Given the description of an element on the screen output the (x, y) to click on. 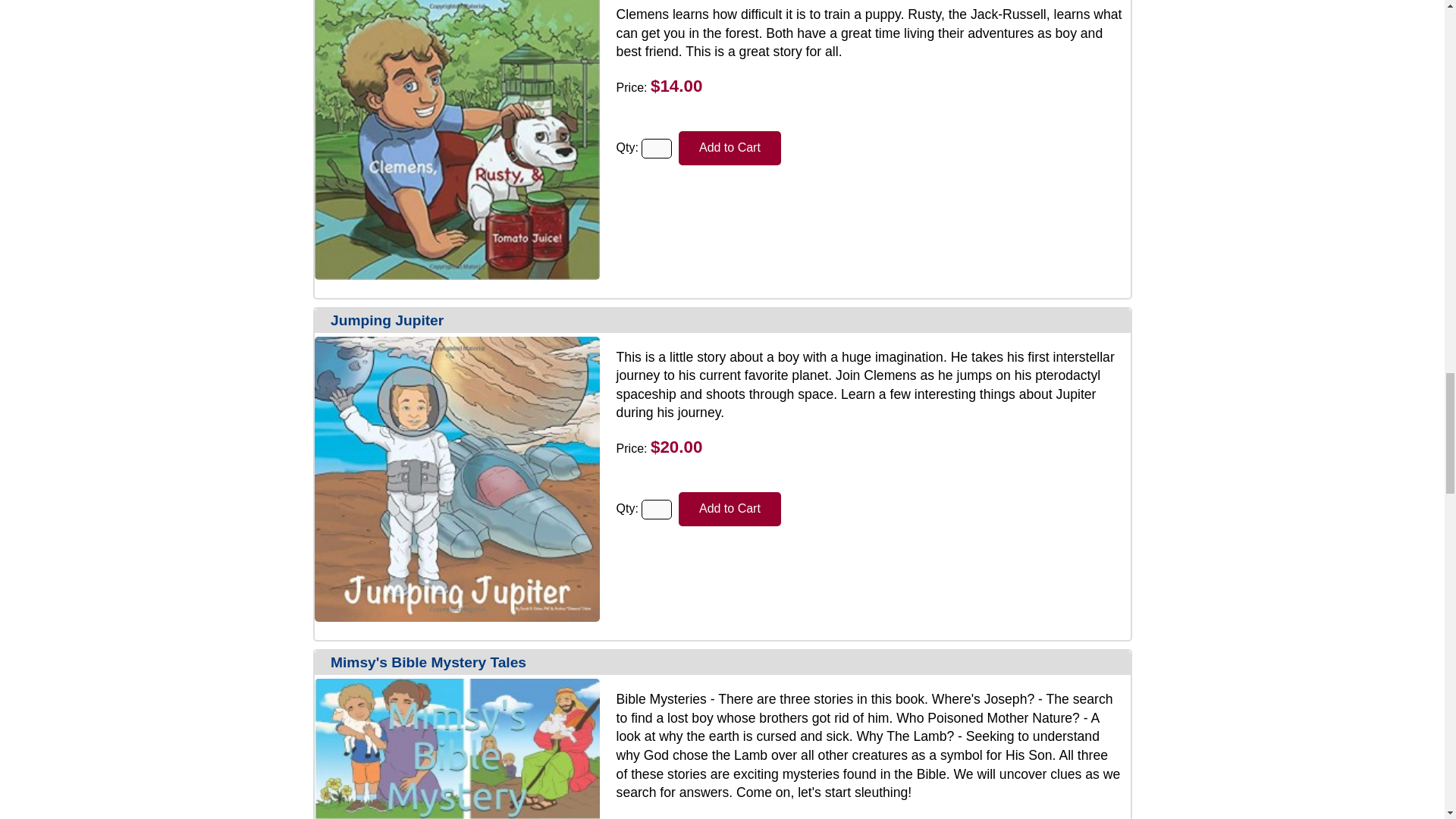
Add to Cart (729, 509)
Add to Cart (729, 509)
Add to Cart (729, 148)
Add to Cart (729, 148)
